Given the description of an element on the screen output the (x, y) to click on. 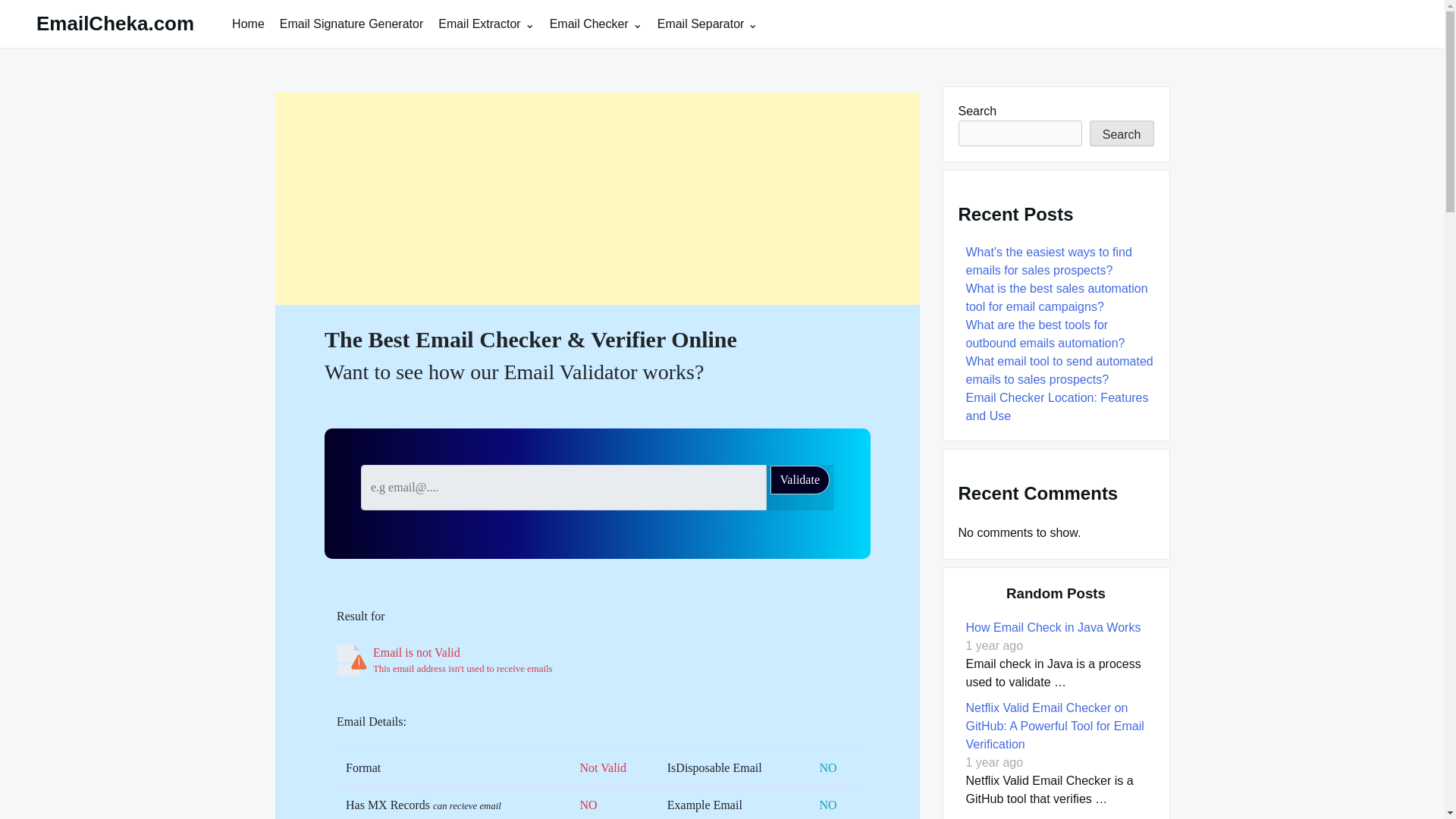
What is the best sales automation tool for email campaigns?  (1057, 296)
Email Extractor (485, 23)
What are the best tools for outbound emails automation?  (1047, 333)
Email Checker Location: Features and Use (1057, 406)
Email Checker (595, 23)
Email Separator (707, 23)
Home (248, 23)
Search (1121, 133)
How Email Check in Java Works (1053, 626)
EmailCheka.com (114, 23)
Email Signature Generator (351, 23)
